Given the description of an element on the screen output the (x, y) to click on. 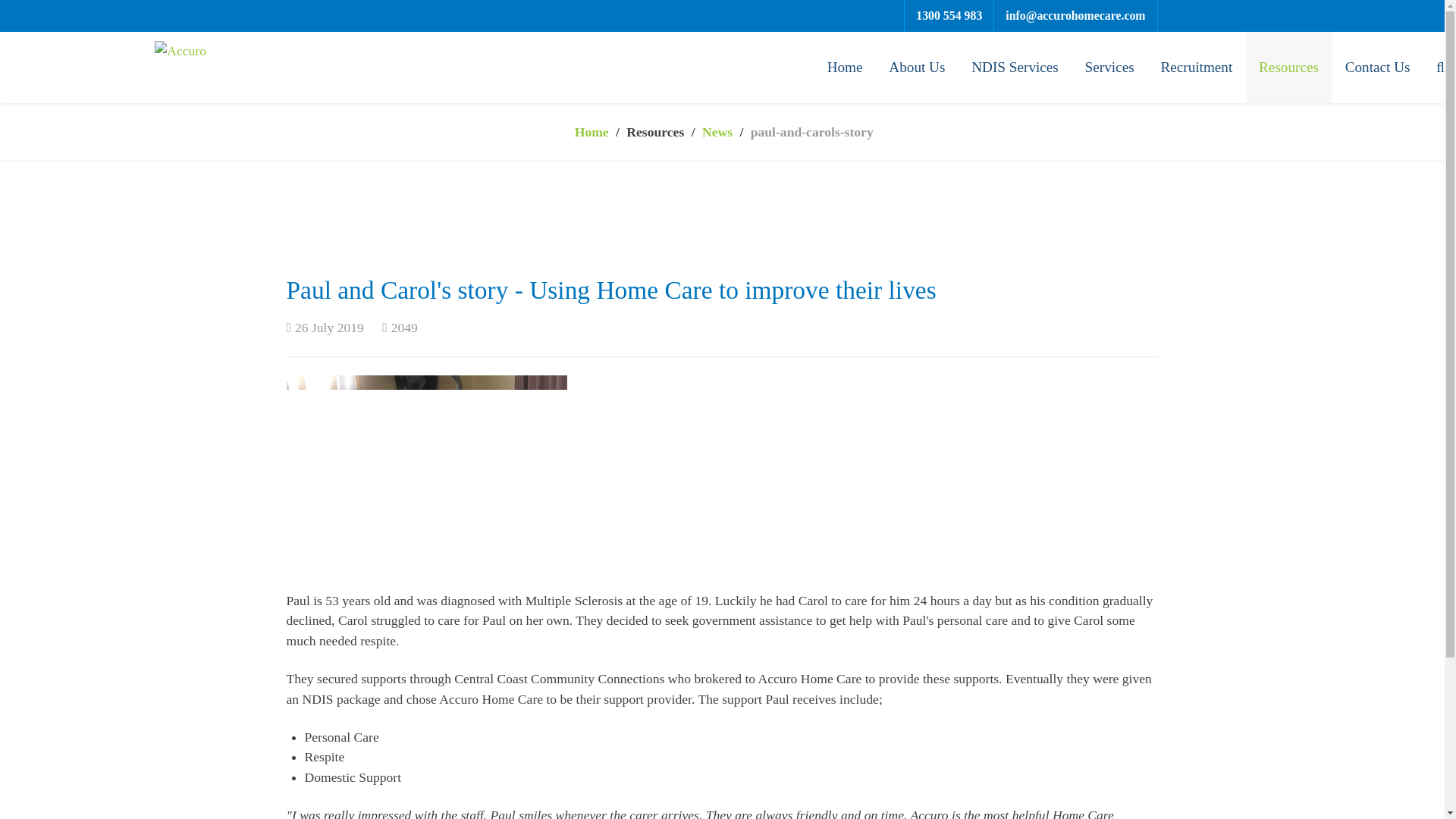
1300 554 983 (948, 15)
NDIS is changing the way we... (666, 368)
Facebook (1110, 782)
About Us (917, 67)
Terms and Conditions (1026, 368)
Services (1109, 67)
Personal Emergency... (640, 343)
News (716, 131)
Accuro (180, 48)
Contact Us (1377, 67)
